Given the description of an element on the screen output the (x, y) to click on. 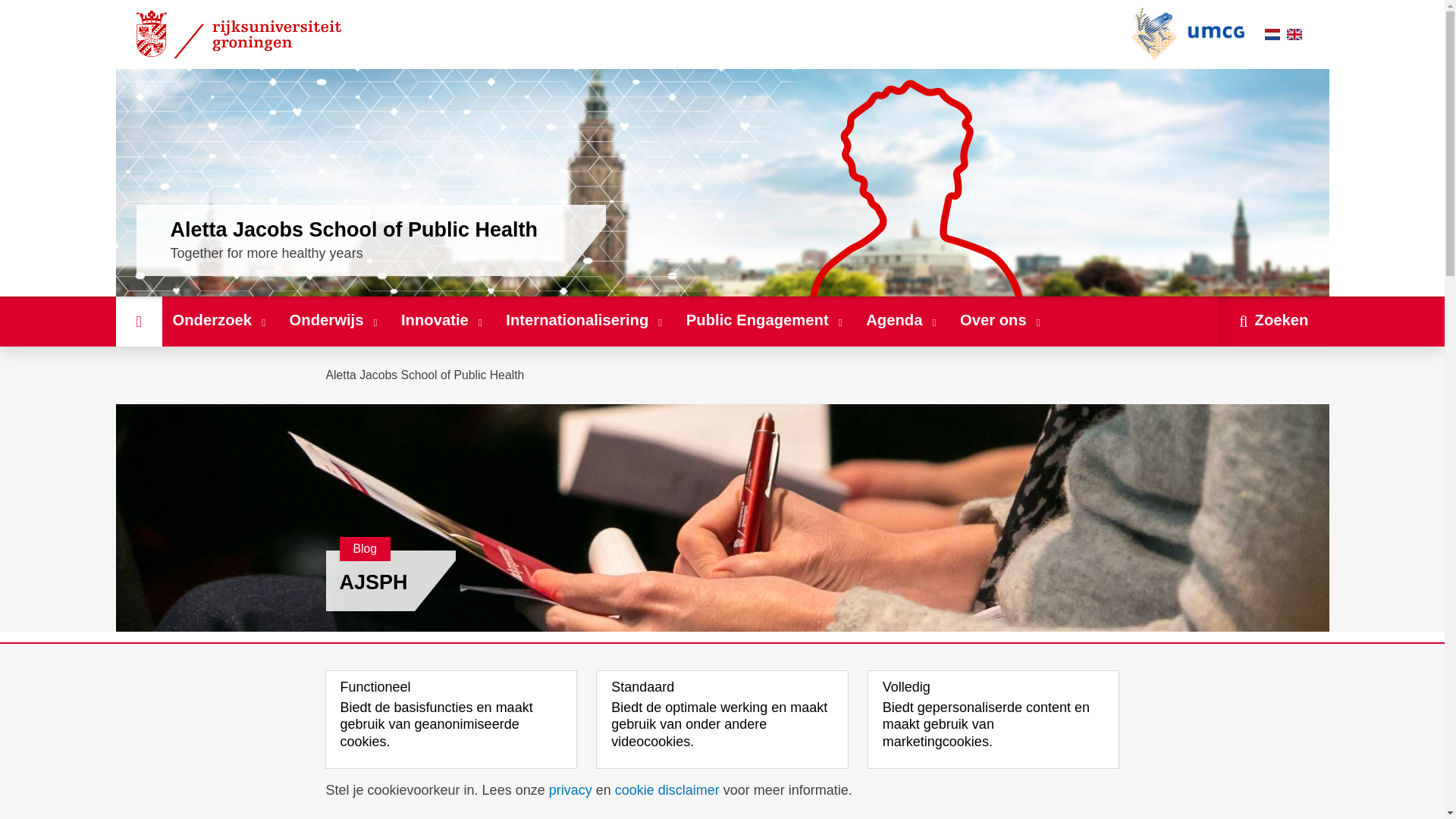
Taal selectie (1286, 34)
Onderwijs (334, 321)
English (1293, 33)
Nederlands (1272, 33)
Home (138, 321)
Innovatie (442, 321)
Onderzoek (220, 321)
